Given the description of an element on the screen output the (x, y) to click on. 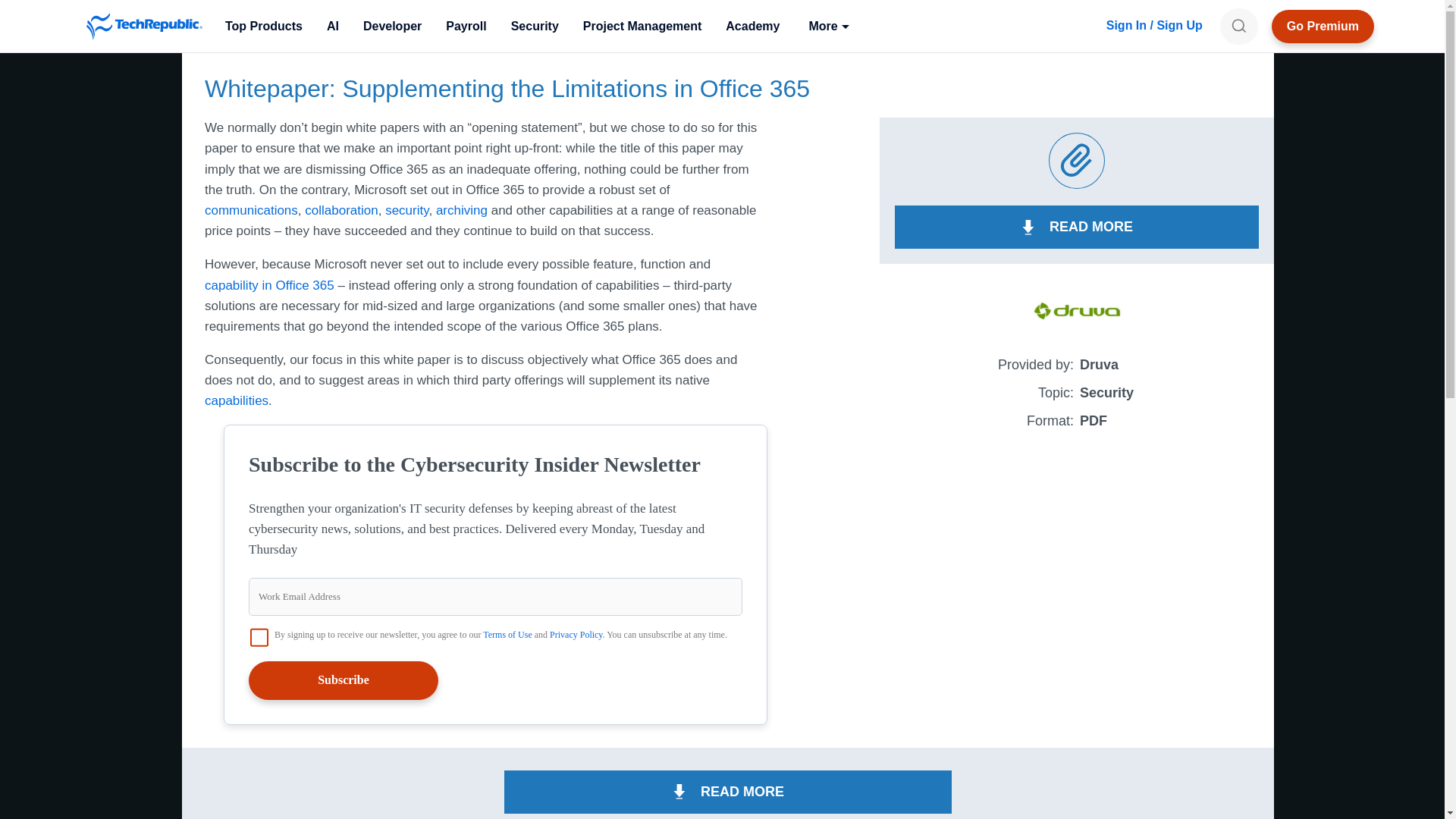
Project Management (641, 26)
capability in Office 365 (271, 284)
TechRepublic (143, 25)
communications (251, 210)
capabilities (236, 400)
Terms of Use (507, 634)
TechRepublic Premium (1322, 25)
TechRepublic (143, 25)
on (258, 637)
collaboration (340, 210)
